Given the description of an element on the screen output the (x, y) to click on. 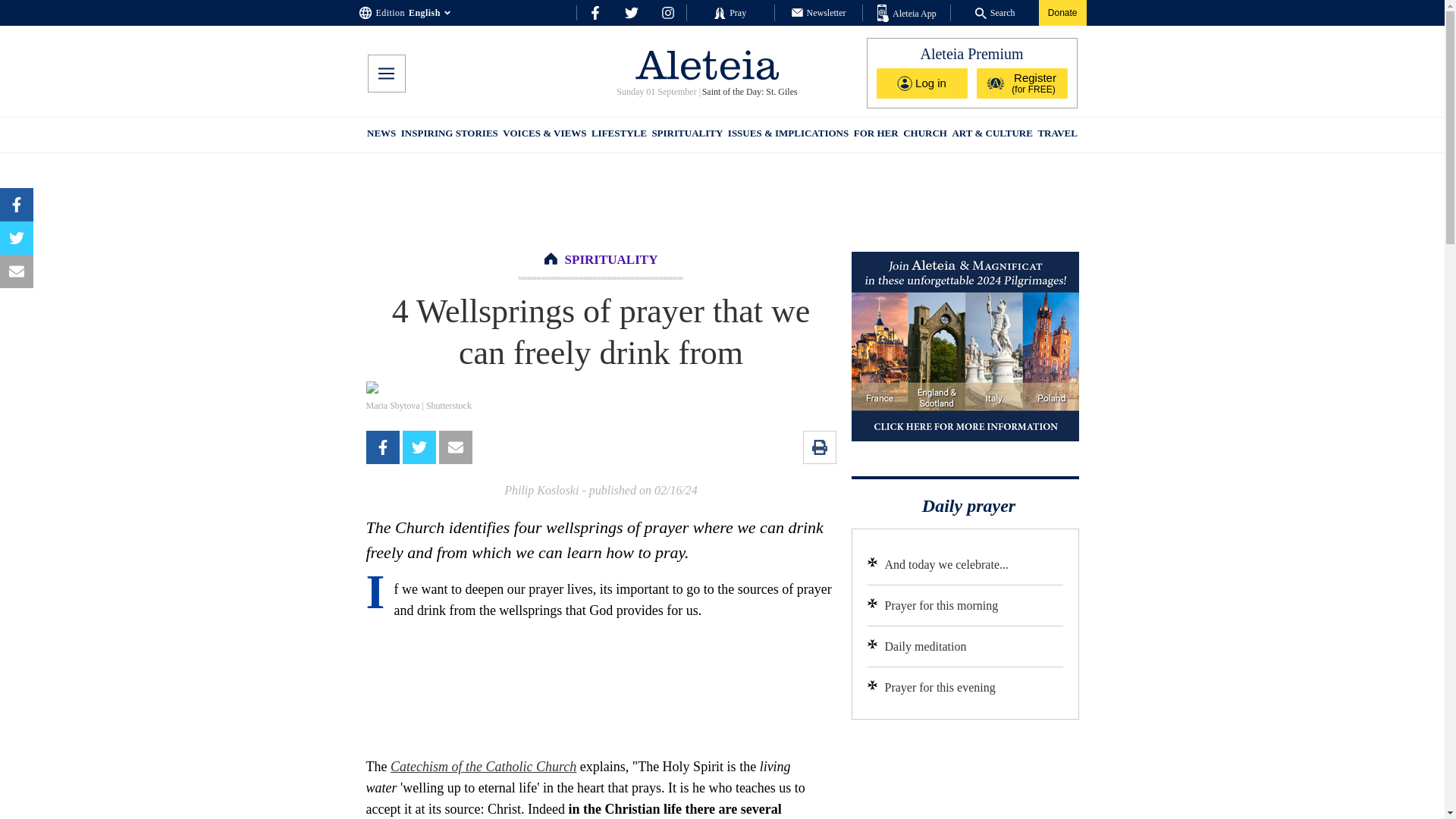
Saint of the Day: St. Giles (748, 91)
INSPIRING STORIES (449, 134)
social-tw-top-row (631, 12)
Aleteia App (906, 13)
SPIRITUALITY (611, 259)
SPIRITUALITY (686, 134)
FOR HER (875, 134)
Catechism of the Catholic Church (483, 766)
Pray (729, 12)
logo-header (706, 64)
